Given the description of an element on the screen output the (x, y) to click on. 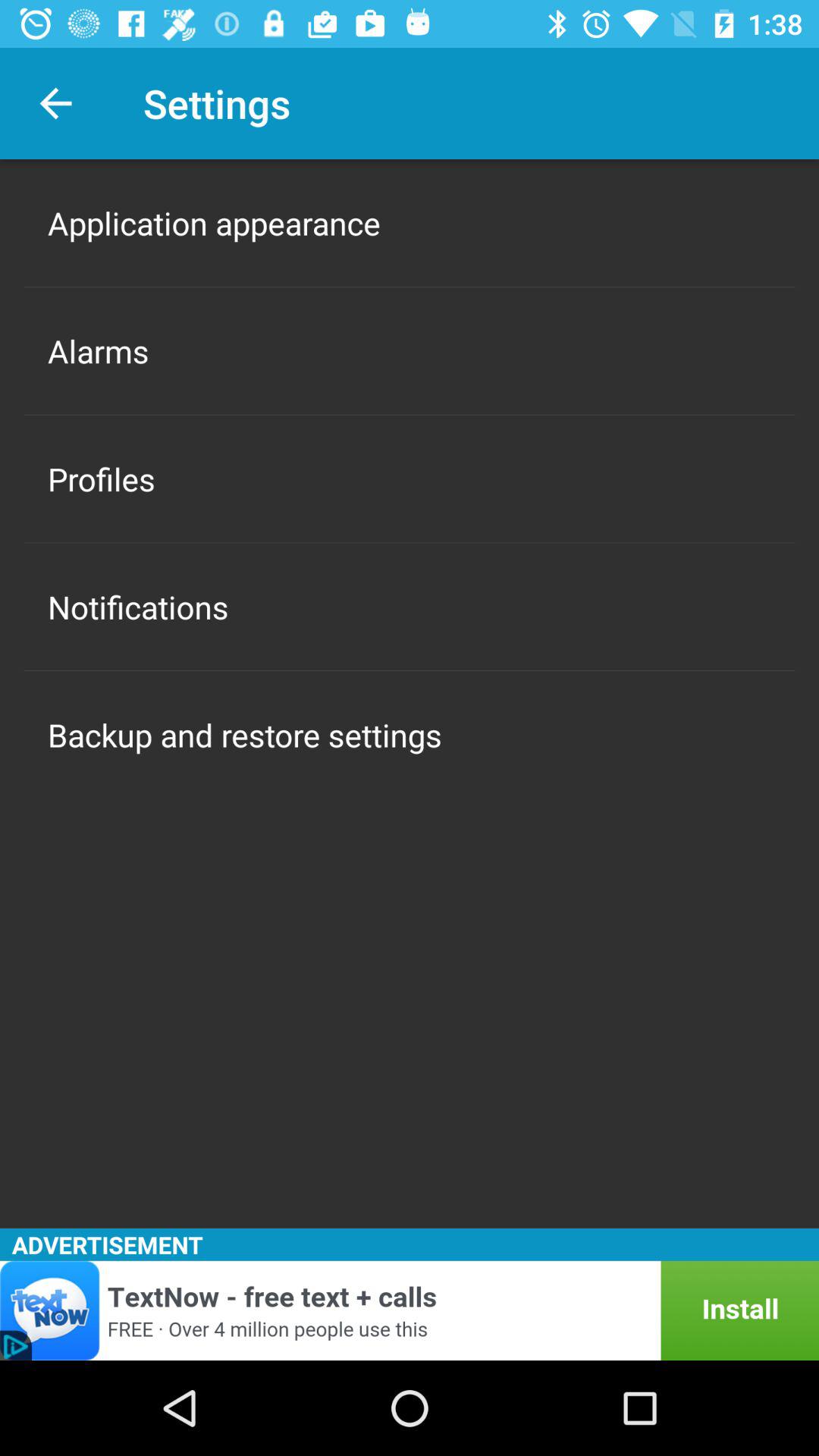
install the text now app (409, 1310)
